Given the description of an element on the screen output the (x, y) to click on. 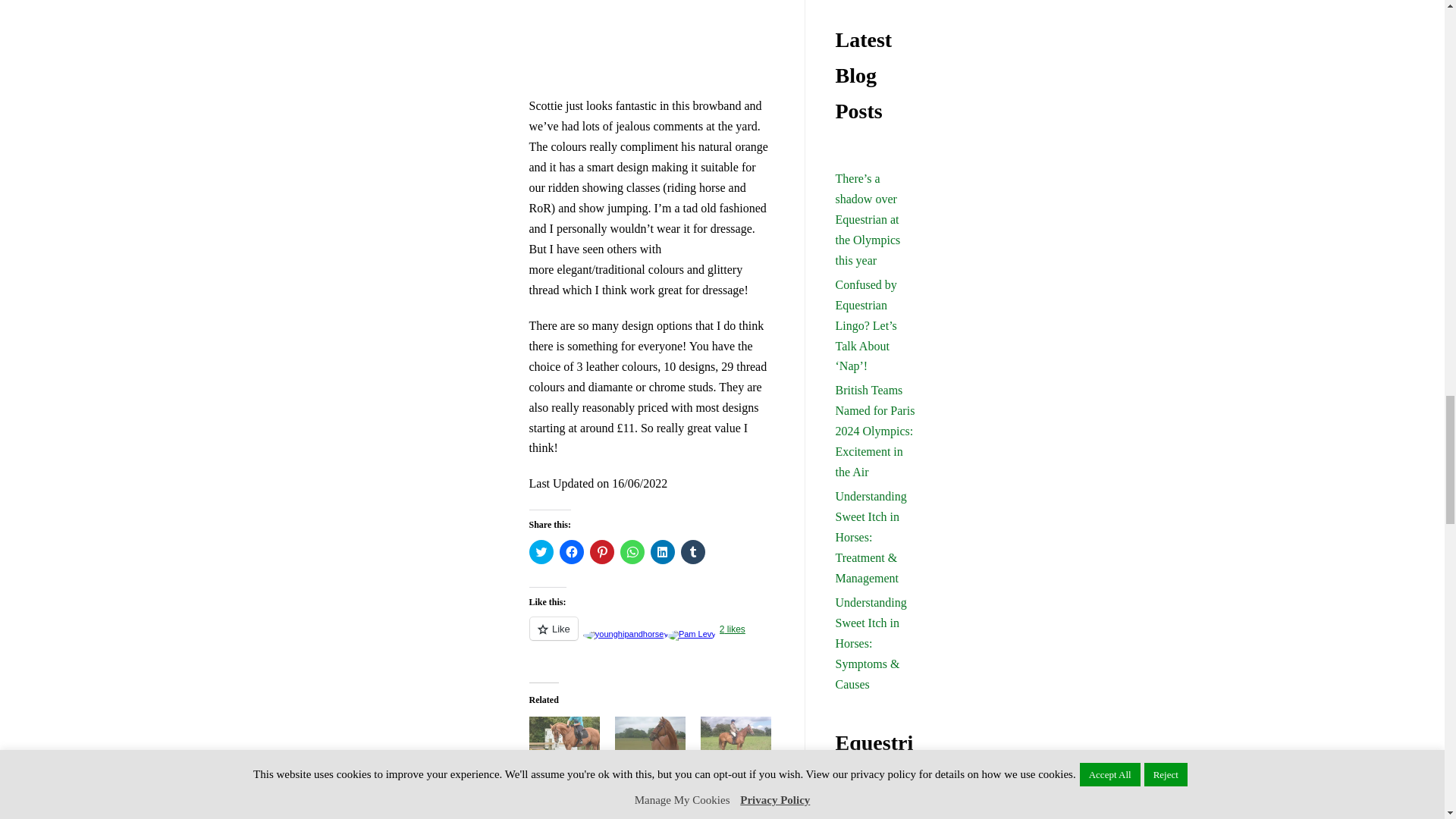
Where we are Right Now (558, 772)
Click to share on WhatsApp (632, 551)
Click to share on Pinterest (601, 551)
Click to share on LinkedIn (662, 551)
Does Bridle Fit Affect Performance? (646, 779)
Click to share on Twitter (541, 551)
Click to share on Facebook (571, 551)
Does Bridle Fit Affect Performance? (649, 736)
Like or Reblog (651, 637)
Click to share on Tumblr (692, 551)
